Given the description of an element on the screen output the (x, y) to click on. 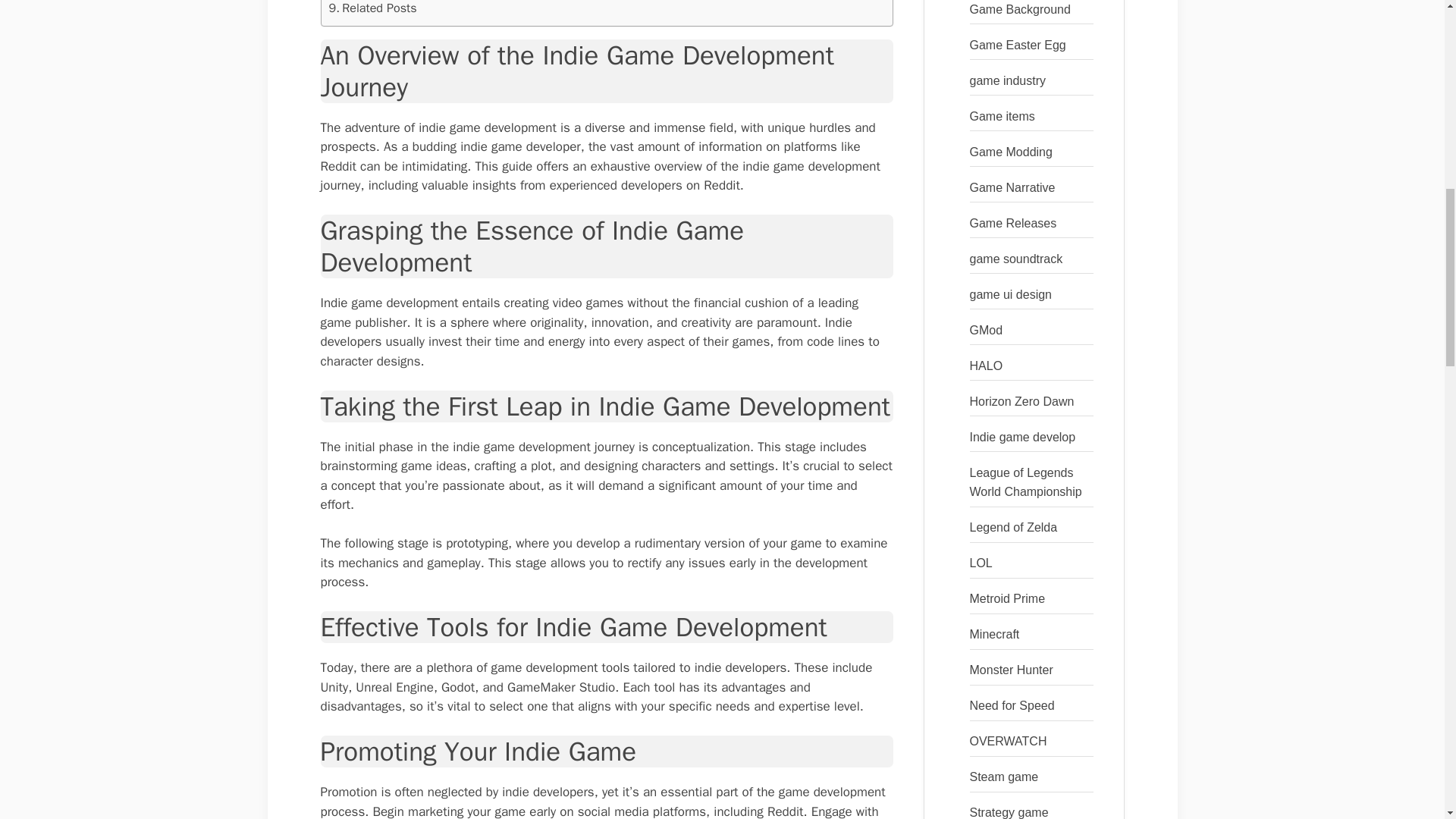
Related Posts (372, 9)
Related Posts (372, 9)
